Given the description of an element on the screen output the (x, y) to click on. 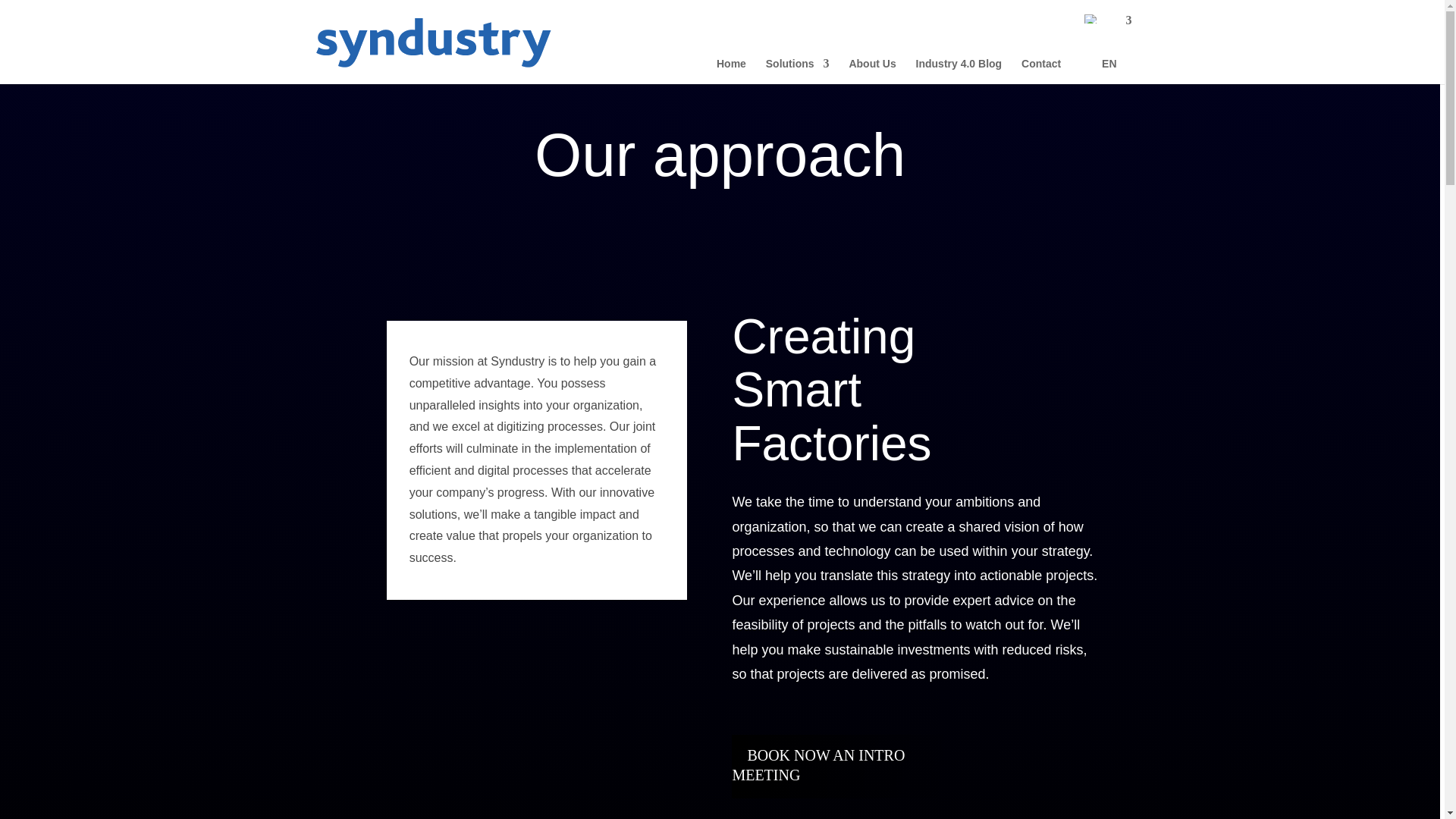
BOOK NOW AN INTRO MEETING (818, 765)
About Us (871, 71)
Contact (1041, 71)
Home (730, 71)
Industry 4.0 Blog (959, 71)
Solutions (797, 71)
